Given the description of an element on the screen output the (x, y) to click on. 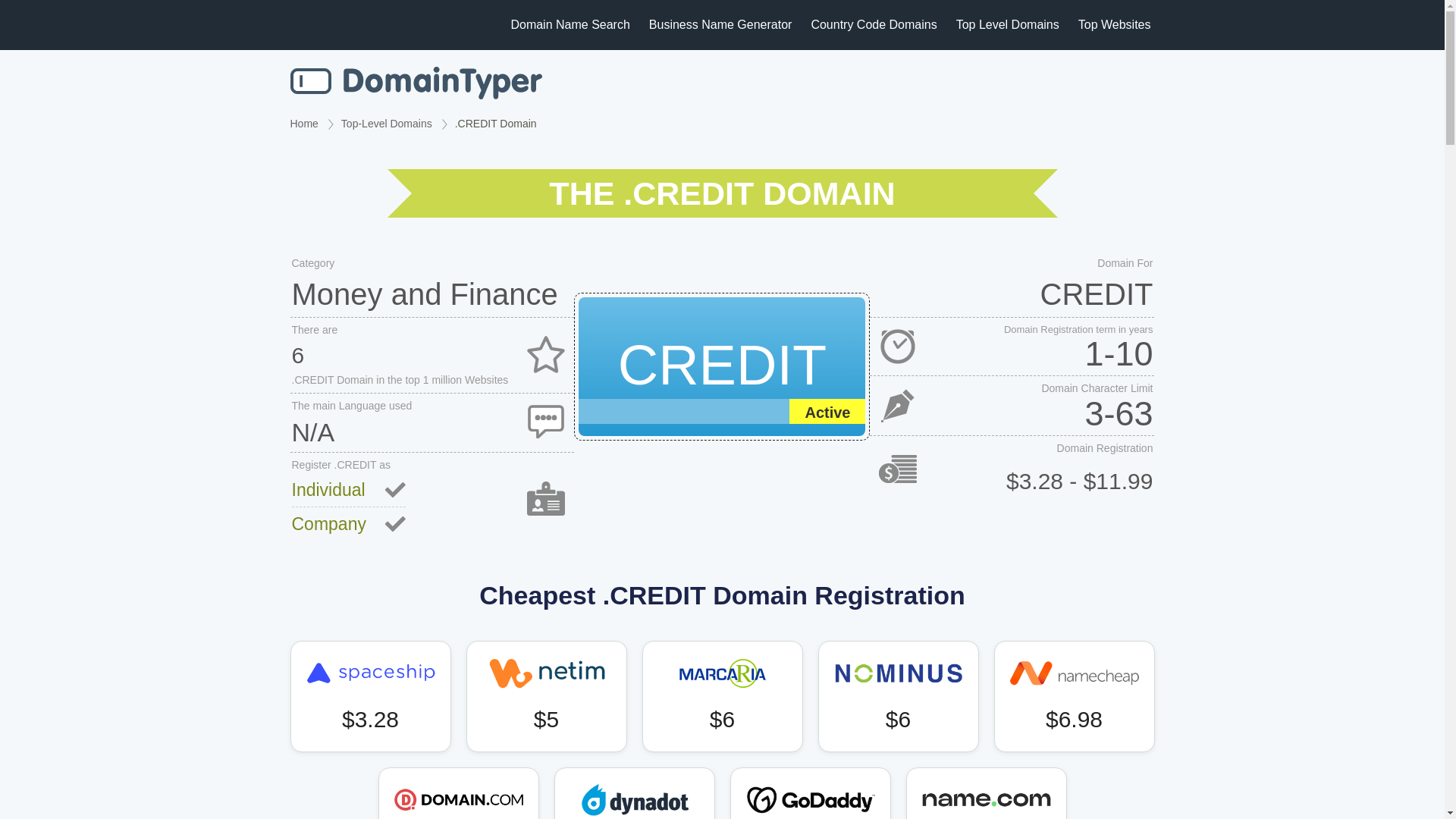
Domain Name Search (569, 24)
Domain Name Search (415, 82)
Country Code Domains (873, 24)
Home (303, 123)
Money and Finance (431, 293)
Top Level Domains (1008, 24)
Top-Level Domains (386, 123)
Business Name Generator (720, 24)
Top Websites (1114, 24)
